Given the description of an element on the screen output the (x, y) to click on. 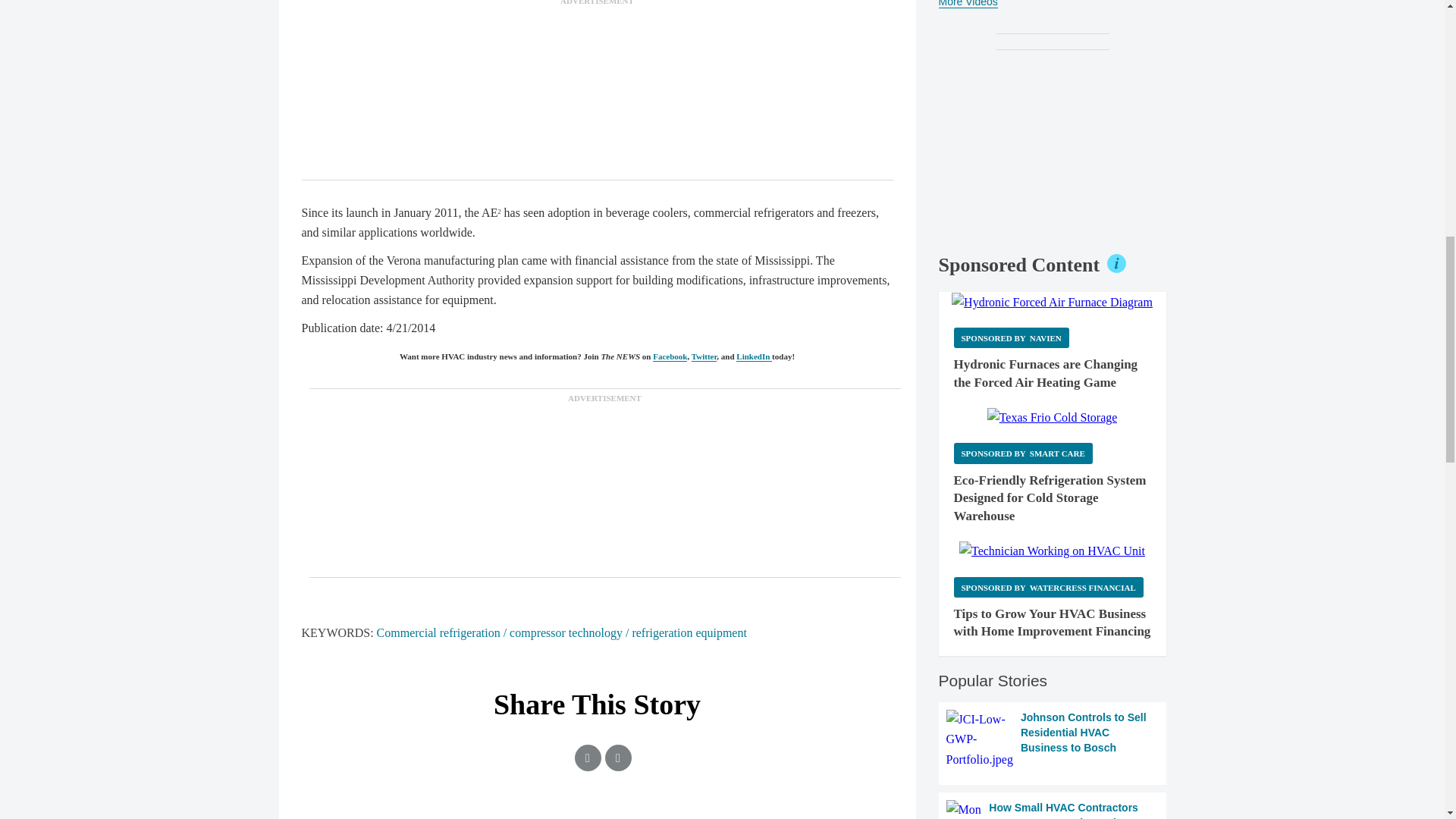
Hydronic Forced Air Furnace Diagram (1052, 302)
Technician Working on HVAC Unit (1051, 551)
Texas Frio Cold Storage (1052, 417)
Johnson Controls to Sell Residential HVAC Business to Bosch (1052, 739)
Sponsored by Smart Care (1023, 453)
Sponsored by Watercress Financial (1047, 586)
Sponsored by Navien (1010, 337)
